Given the description of an element on the screen output the (x, y) to click on. 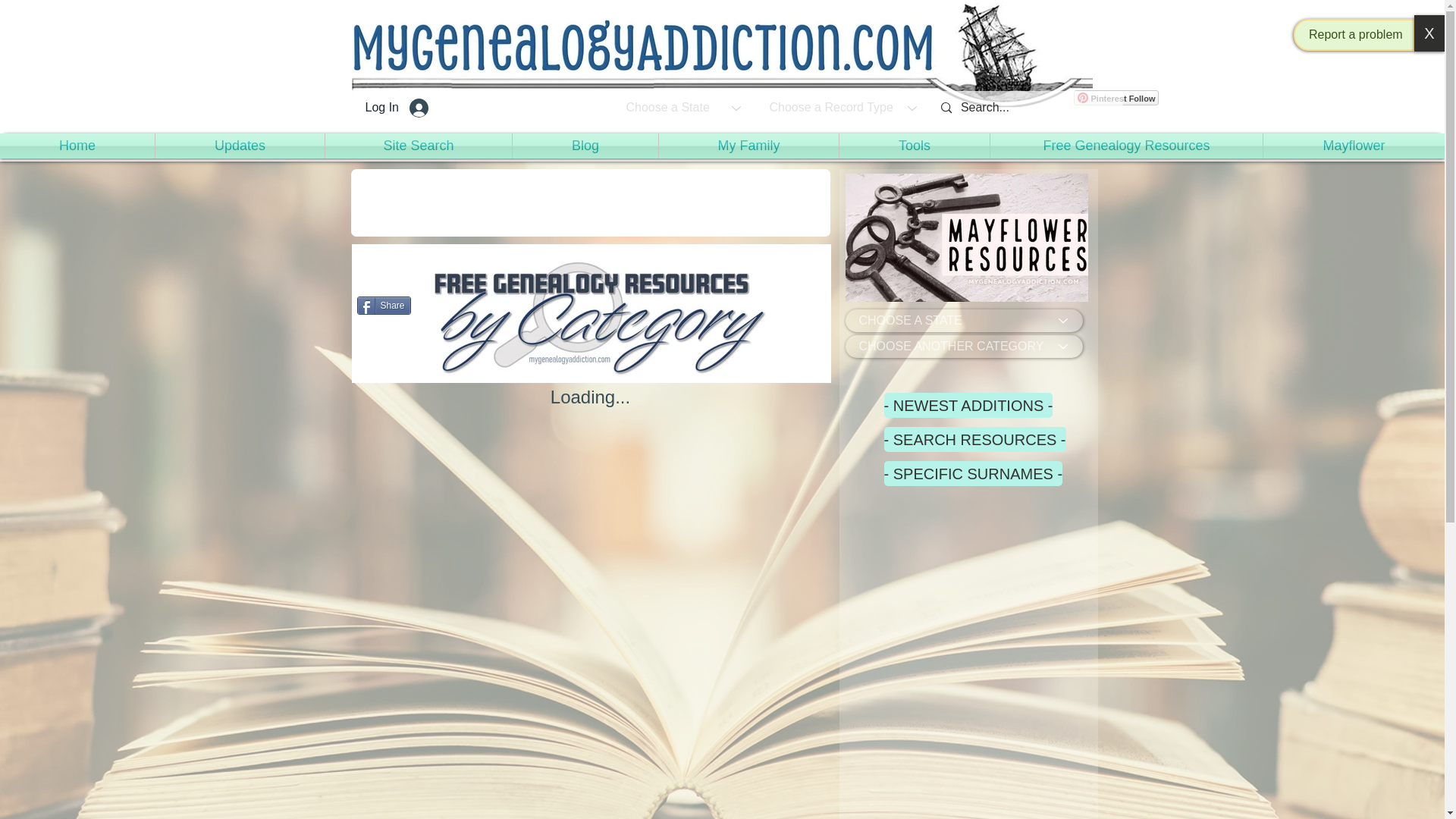
Updates (239, 145)
Facebook Like (452, 266)
Log In (397, 108)
Mayflower Pilgrim Records (965, 237)
Site Search (418, 145)
Home (77, 145)
Pin to Pinterest (802, 258)
Pinterest Follow (1116, 97)
Pin to Pinterest (1059, 192)
Blog (585, 145)
